Given the description of an element on the screen output the (x, y) to click on. 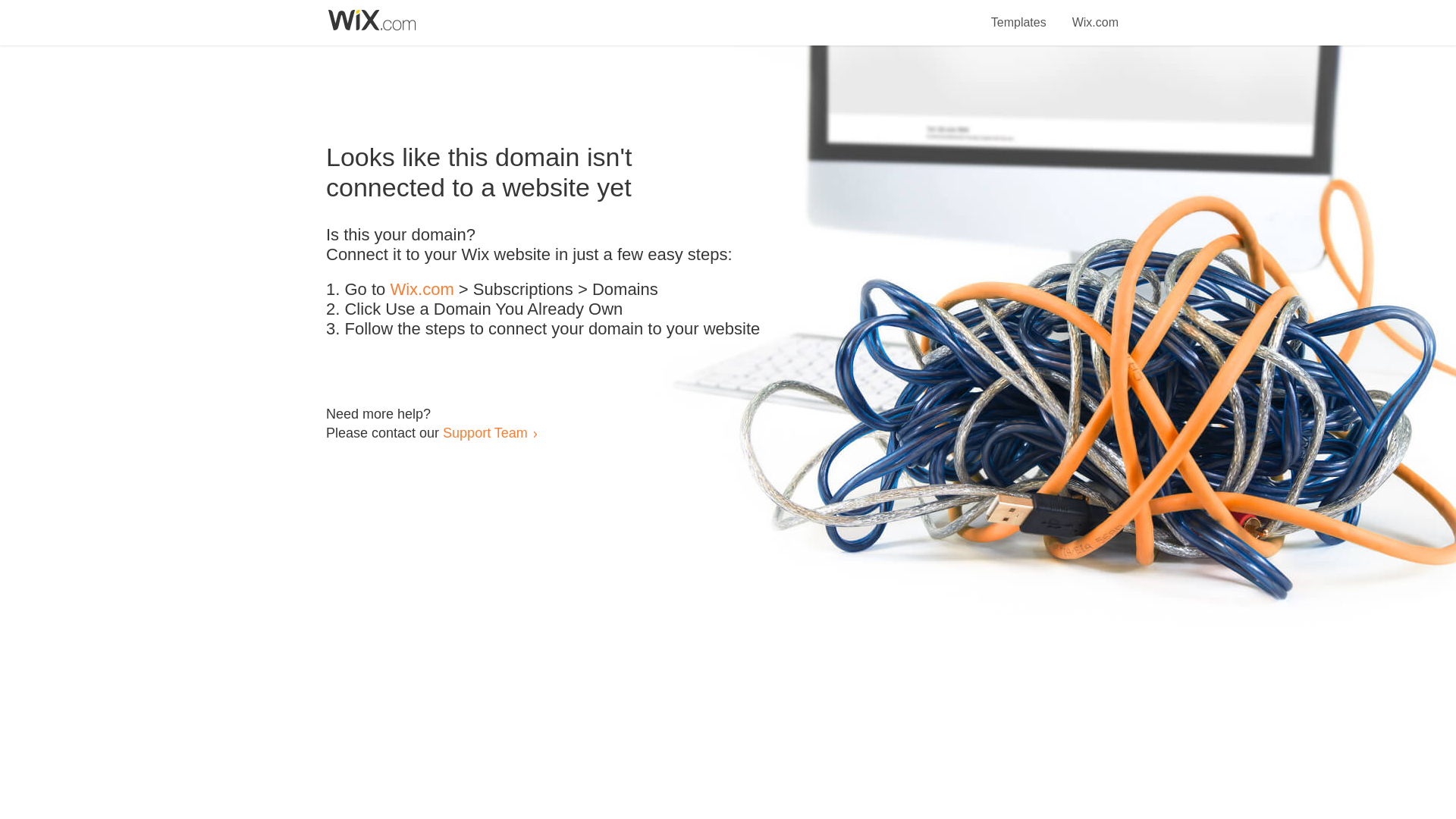
Templates (1018, 14)
Wix.com (421, 289)
Wix.com (1095, 14)
Support Team (484, 432)
